Given the description of an element on the screen output the (x, y) to click on. 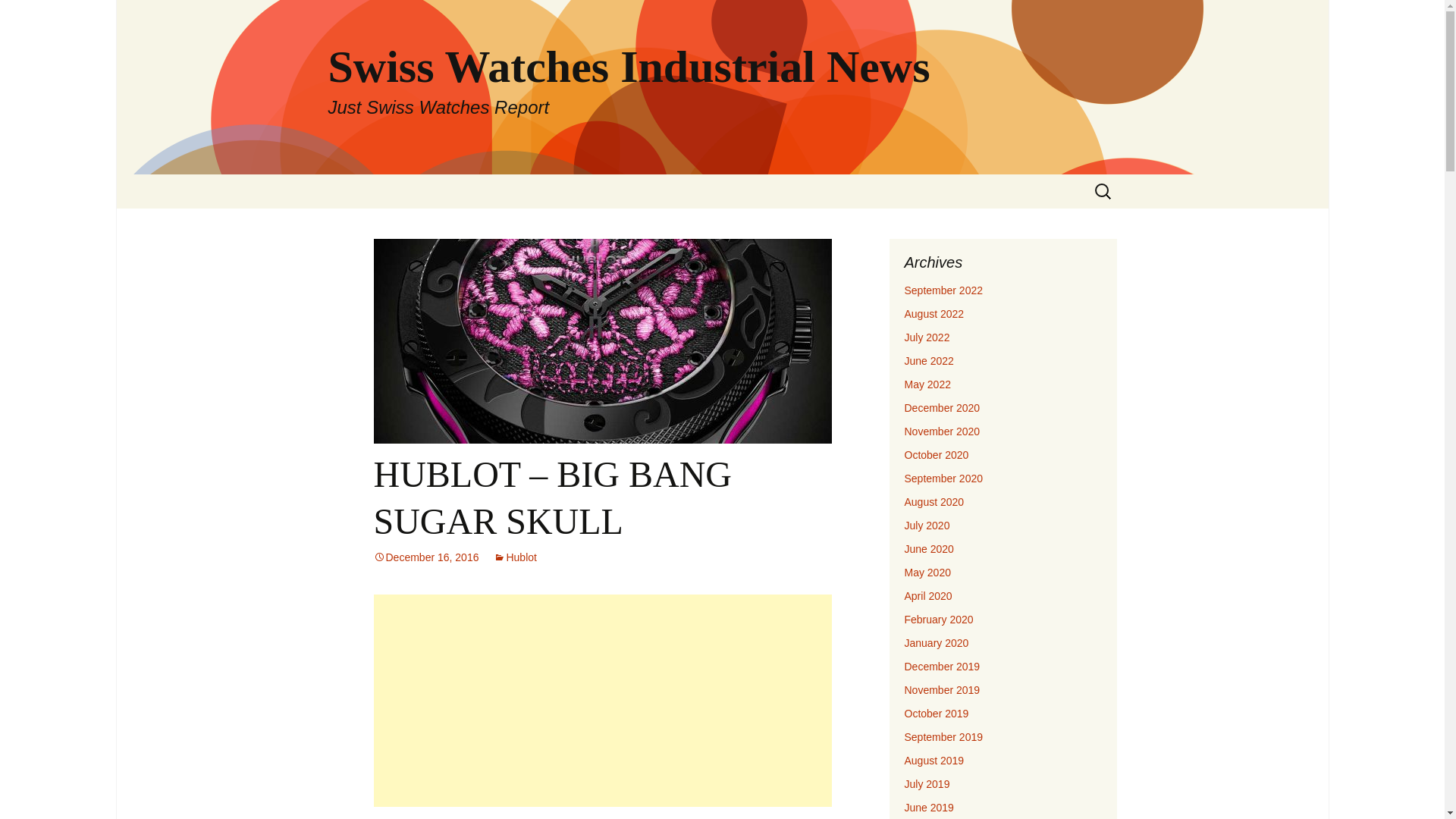
July 2022 (926, 337)
July 2019 (926, 784)
June 2022 (928, 360)
December 2020 (941, 408)
April 2020 (928, 595)
August 2020 (933, 501)
December 16, 2016 (425, 557)
Search (18, 15)
September 2020 (943, 478)
